Given the description of an element on the screen output the (x, y) to click on. 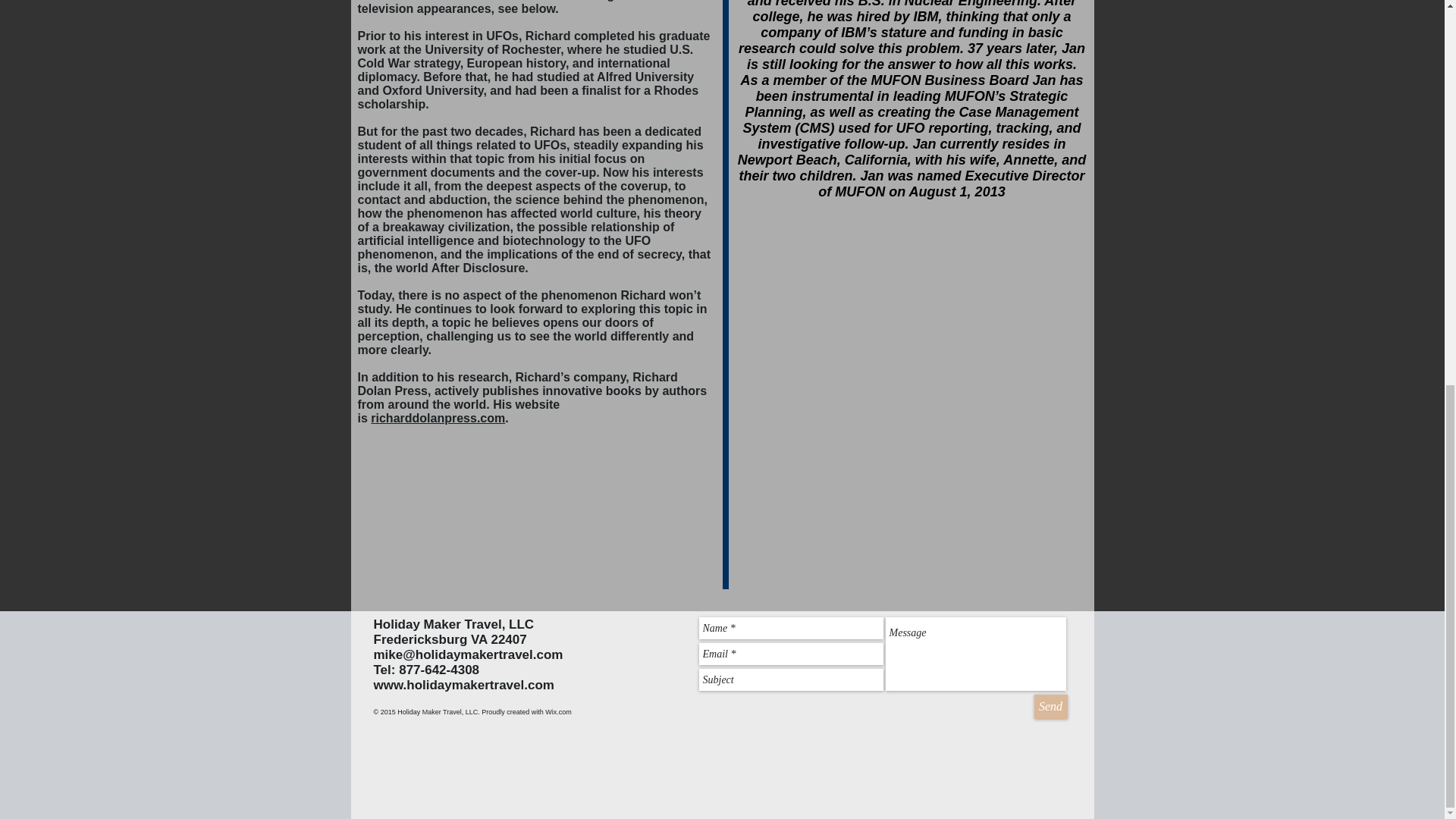
Wix.com (558, 711)
richarddolanpress.com (438, 418)
Send (1050, 706)
www.holidaymakertravel.com (462, 685)
